Given the description of an element on the screen output the (x, y) to click on. 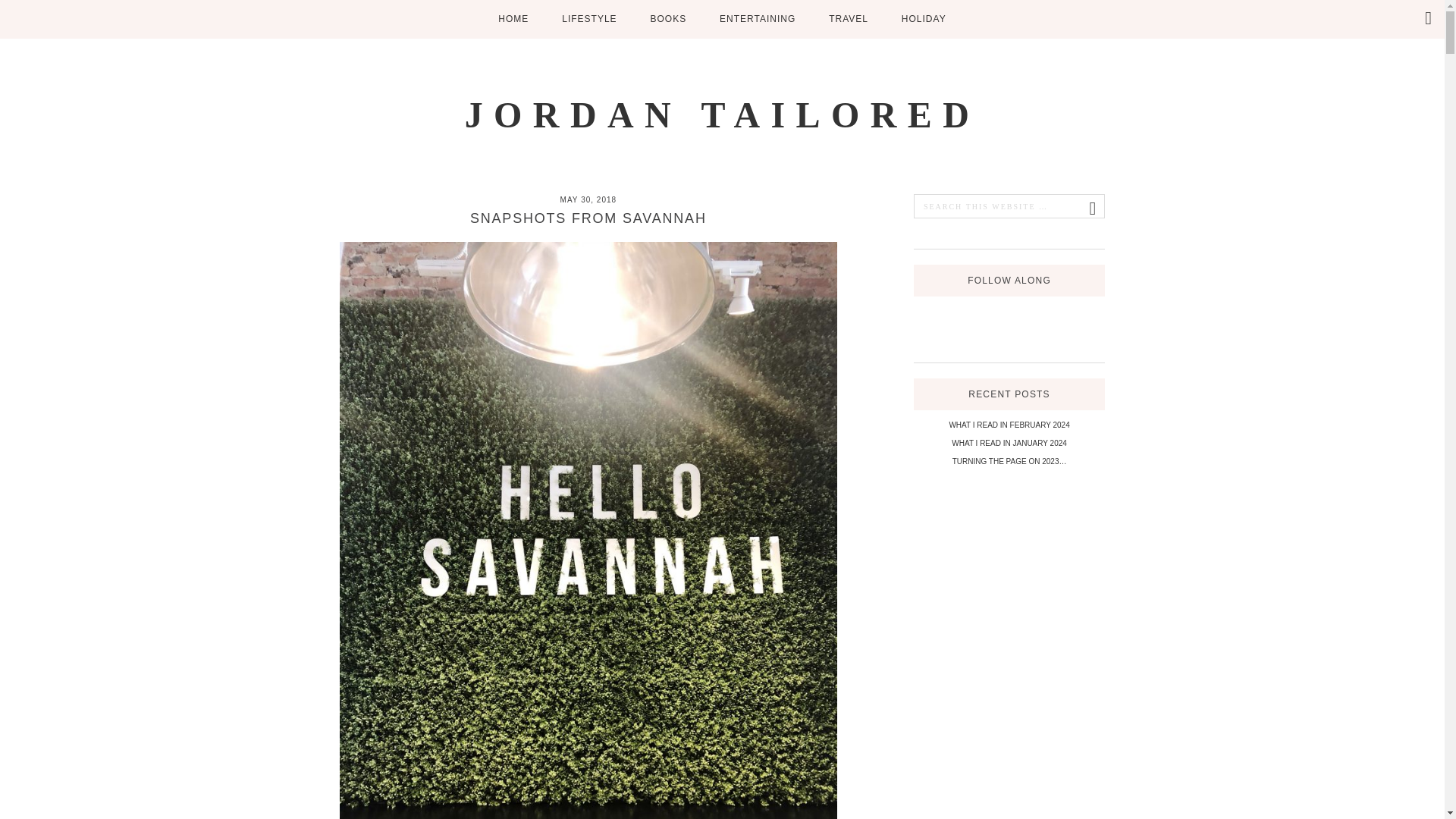
TRAVEL (848, 19)
Search (18, 12)
HOME (513, 19)
ENTERTAINING (757, 19)
WHAT I READ IN FEBRUARY 2024 (1008, 424)
PINTEREST (1009, 317)
WHAT I READ IN JANUARY 2024 (1009, 442)
INSTAGRAM (982, 317)
LIFESTYLE (589, 19)
